Given the description of an element on the screen output the (x, y) to click on. 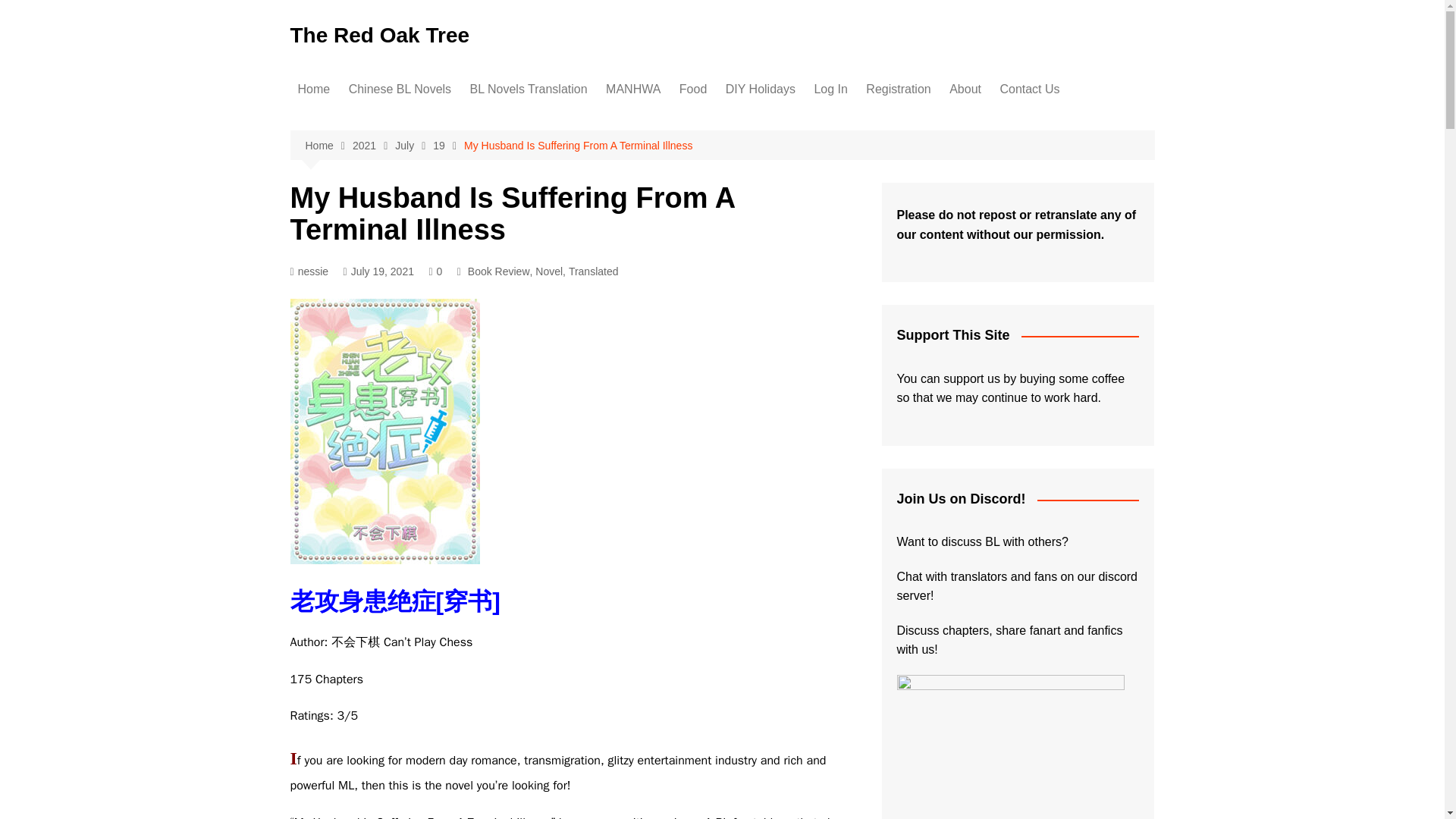
BL Novels Translation (529, 89)
July (413, 145)
Book Review (498, 271)
Contact Us (1029, 89)
Novel (548, 271)
nessie (309, 271)
The Red Oak Tree (378, 34)
Log In (830, 89)
Food (692, 89)
2021 (373, 145)
